Given the description of an element on the screen output the (x, y) to click on. 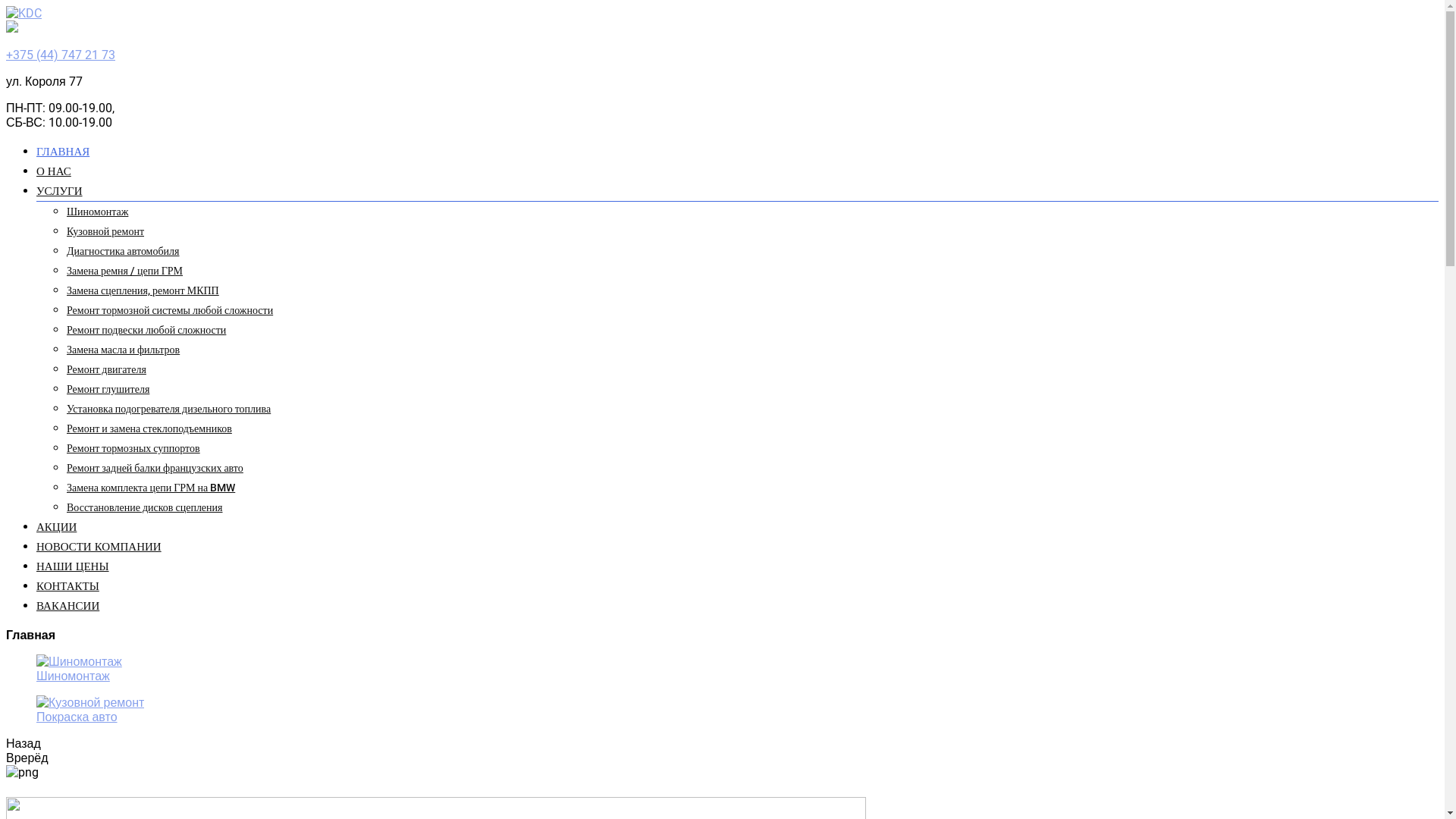
+375 (44) 747 21 73 Element type: text (60, 54)
